Given the description of an element on the screen output the (x, y) to click on. 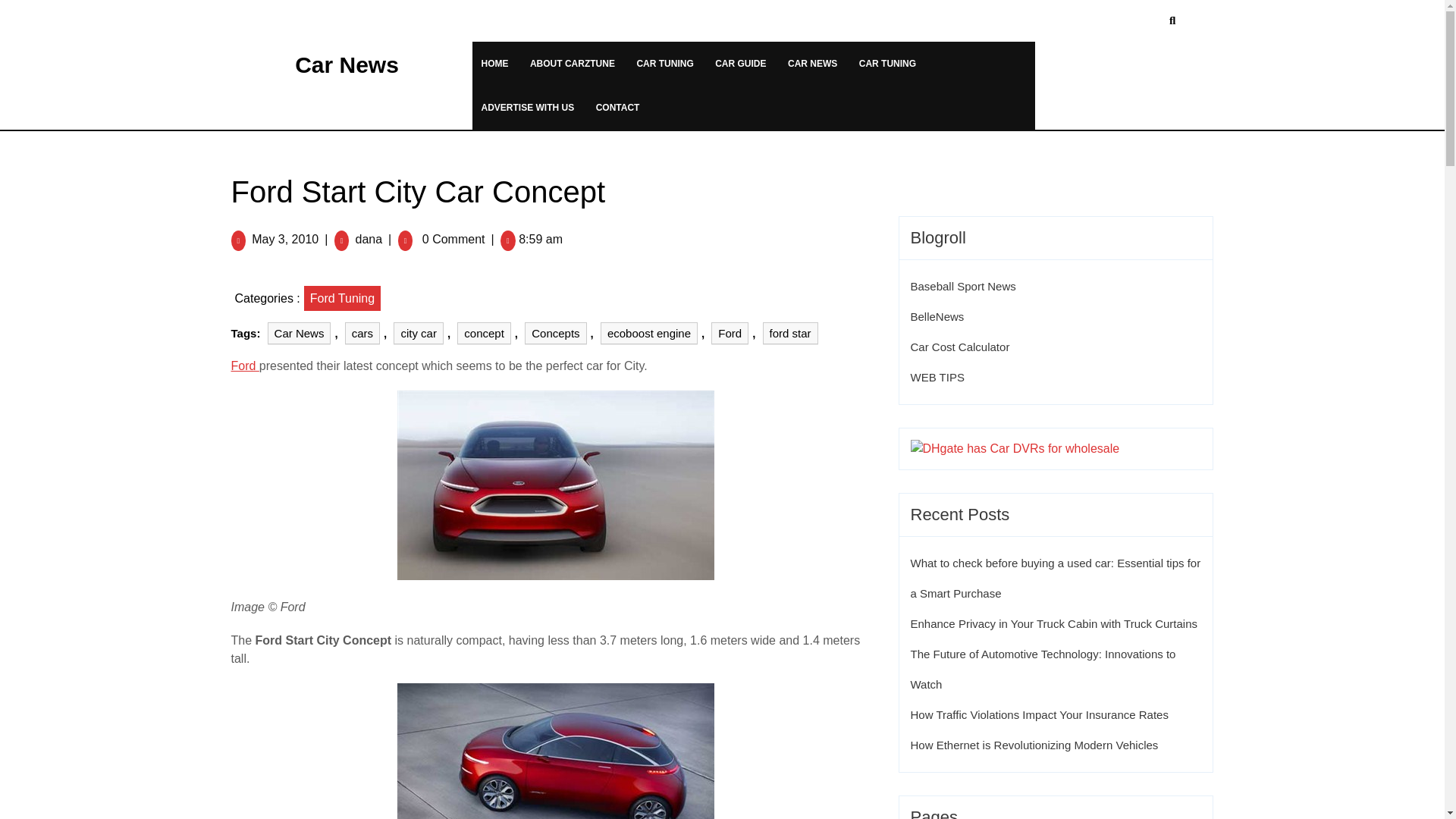
Concepts (555, 332)
Ford Start City Car Concept (555, 751)
Ford Tuning (342, 297)
WEB TIPS (936, 377)
city car (418, 332)
dana (368, 237)
May 3, 2010 (284, 237)
ford star (790, 332)
Car News (299, 332)
HOME (493, 62)
